Given the description of an element on the screen output the (x, y) to click on. 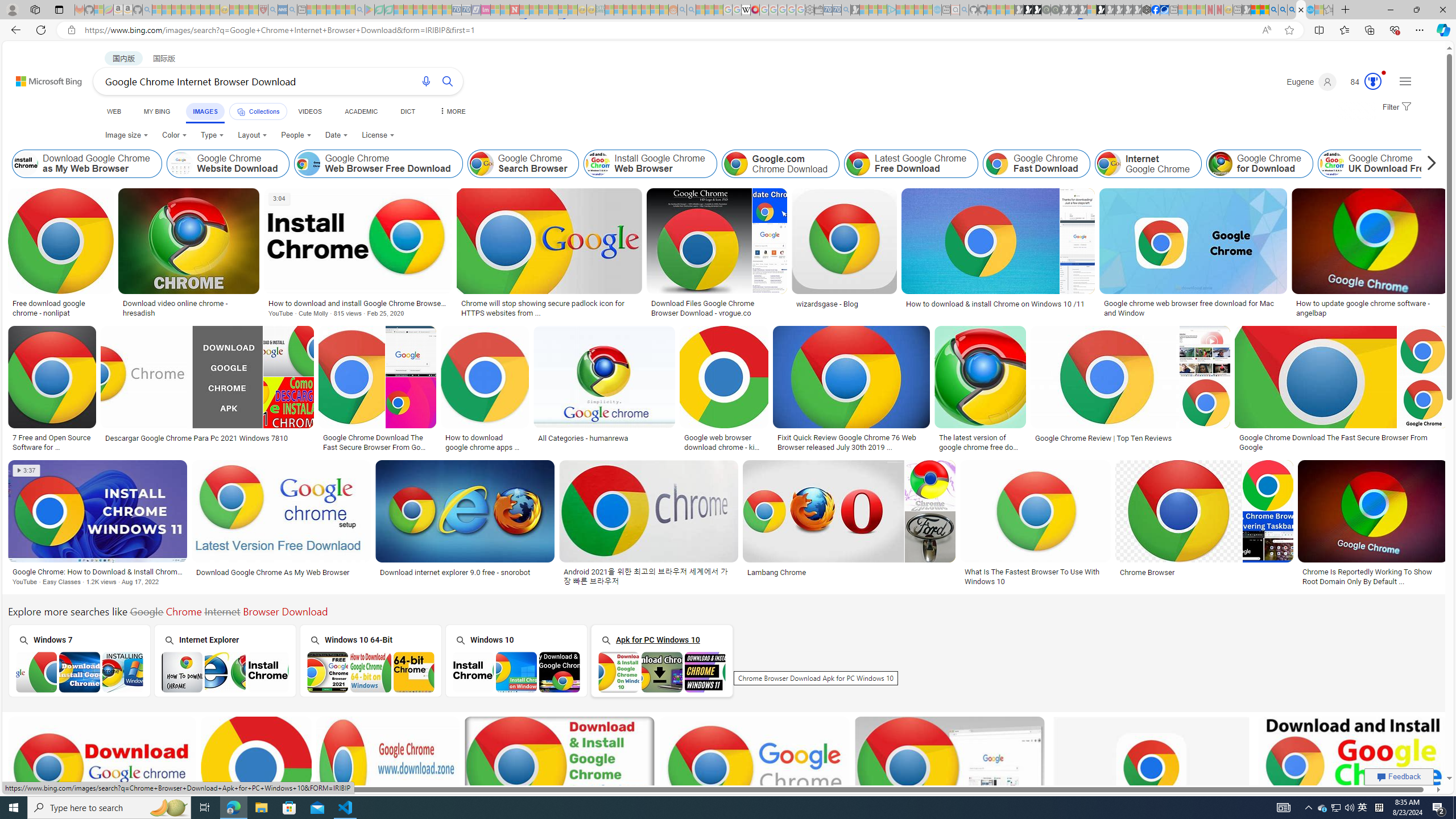
Settings and quick links (1404, 80)
Google Chrome Download The Fast Secure Browser From Google (1340, 442)
Latest Politics News & Archive | Newsweek.com - Sleeping (514, 9)
Scroll right (1428, 163)
Google Chrome Download The Fast Secure Browser From Google (1340, 442)
MORE (451, 111)
What Is The Fastest Browser To Use With Windows 10 (1034, 576)
wizardsgase - Blog (844, 303)
Play Zoo Boom in your browser | Games from Microsoft Start (1027, 9)
